Given the description of an element on the screen output the (x, y) to click on. 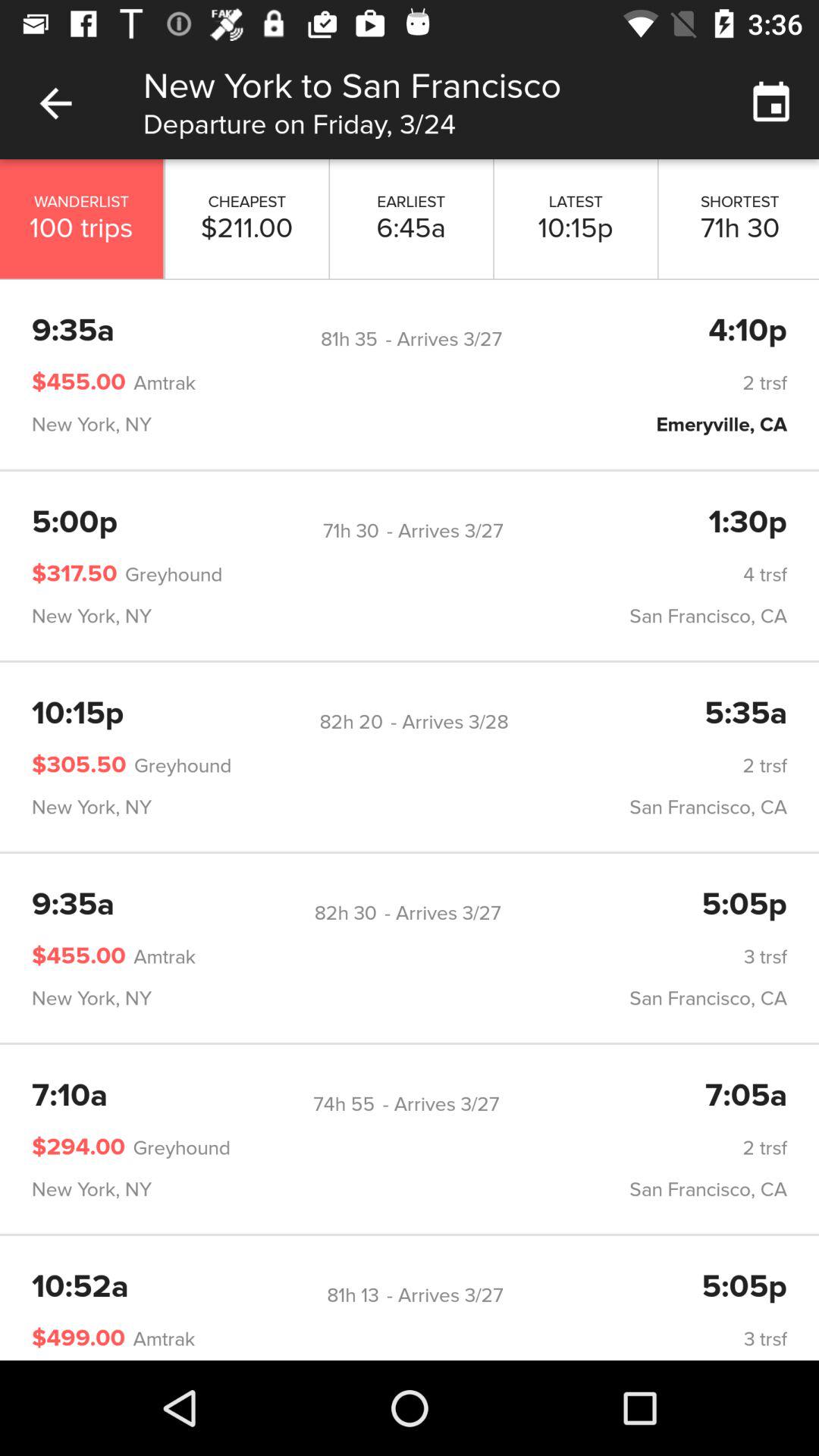
click icon to the right of the 9:35a (348, 339)
